Given the description of an element on the screen output the (x, y) to click on. 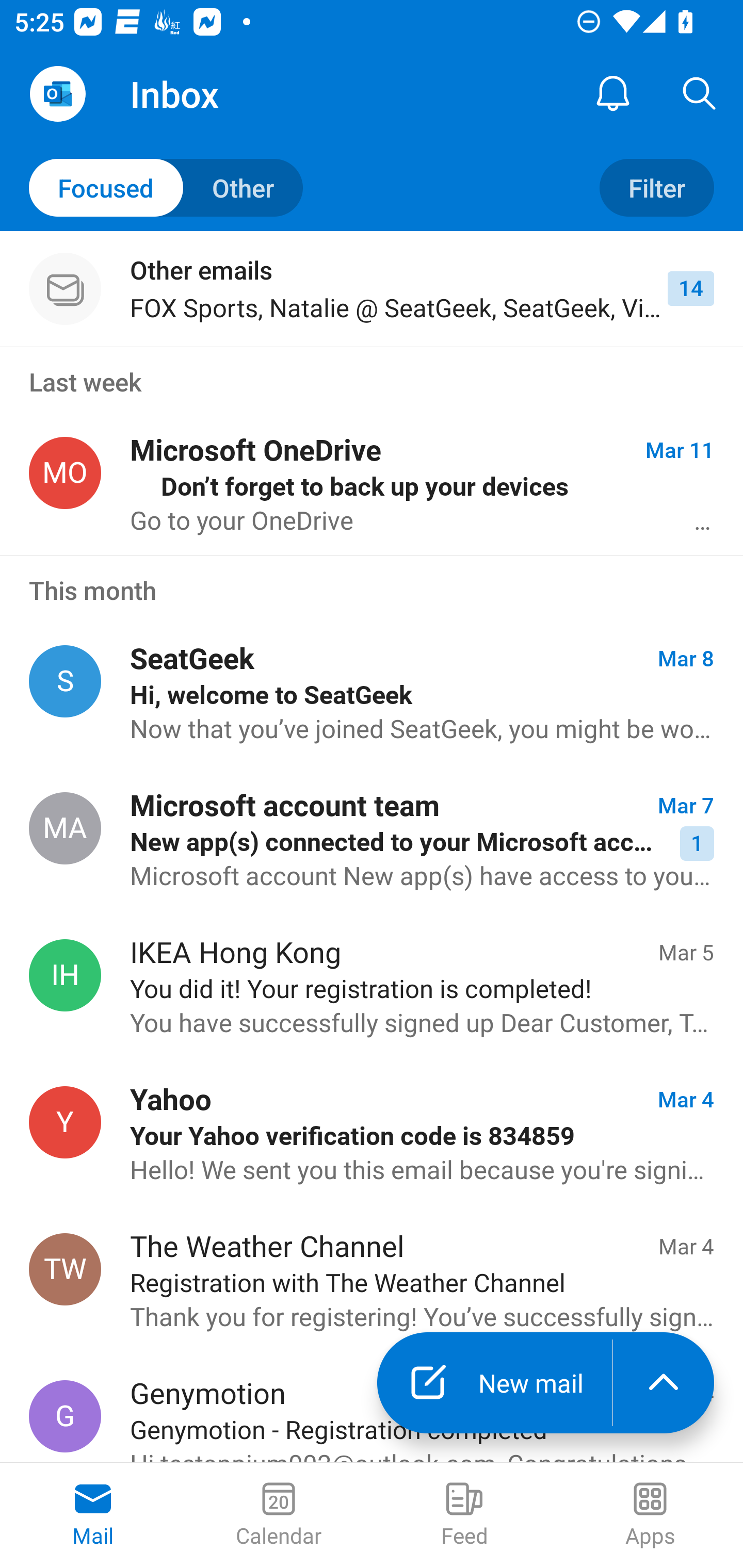
Notification Center (612, 93)
Search, ,  (699, 93)
Open Navigation Drawer (57, 94)
Toggle to other mails (165, 187)
Filter (656, 187)
SeatGeek, events@seatgeek.com (64, 682)
IKEA Hong Kong, IKHK_AWS@ikea.com.hk (64, 975)
Yahoo, no-reply@cc.yahoo-inc.com (64, 1122)
The Weather Channel, noreply@weather.com (64, 1270)
New mail (494, 1382)
launch the extended action menu (663, 1382)
Genymotion, genymotion-activation@genymobile.com (64, 1415)
Calendar (278, 1515)
Feed (464, 1515)
Apps (650, 1515)
